Given the description of an element on the screen output the (x, y) to click on. 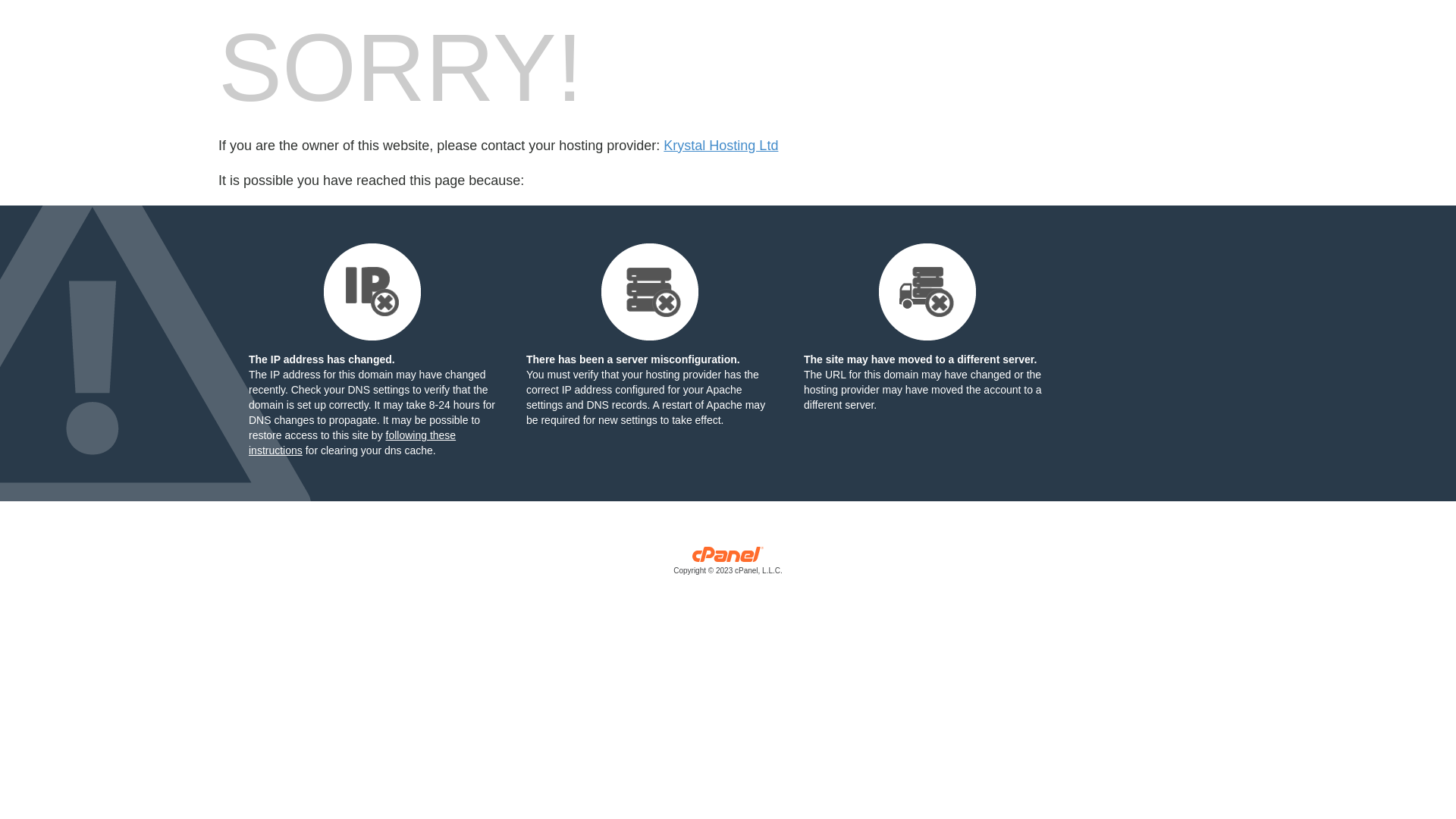
Krystal Hosting Ltd Element type: text (720, 145)
following these instructions Element type: text (351, 442)
